Given the description of an element on the screen output the (x, y) to click on. 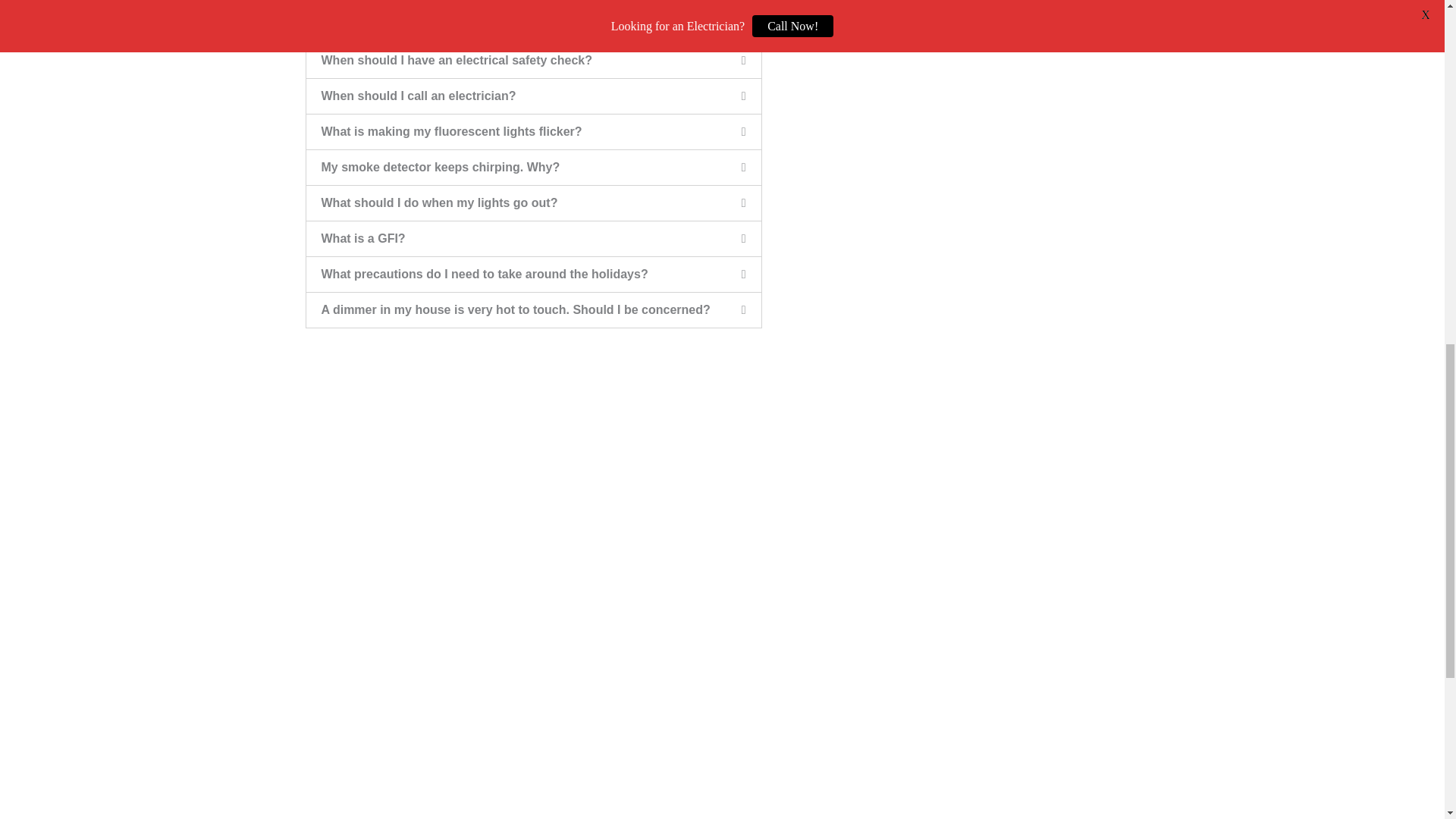
My smoke detector keeps chirping. Why? (440, 166)
When should I have an electrical safety check? (456, 60)
When should I call an electrician? (418, 95)
What is a GFI? (363, 237)
What precautions do I need to take around the holidays? (484, 273)
What is making my fluorescent lights flicker? (451, 131)
What should I do when my lights go out? (439, 202)
Can I replace my light fixture with a ceiling fan? (458, 24)
